Given the description of an element on the screen output the (x, y) to click on. 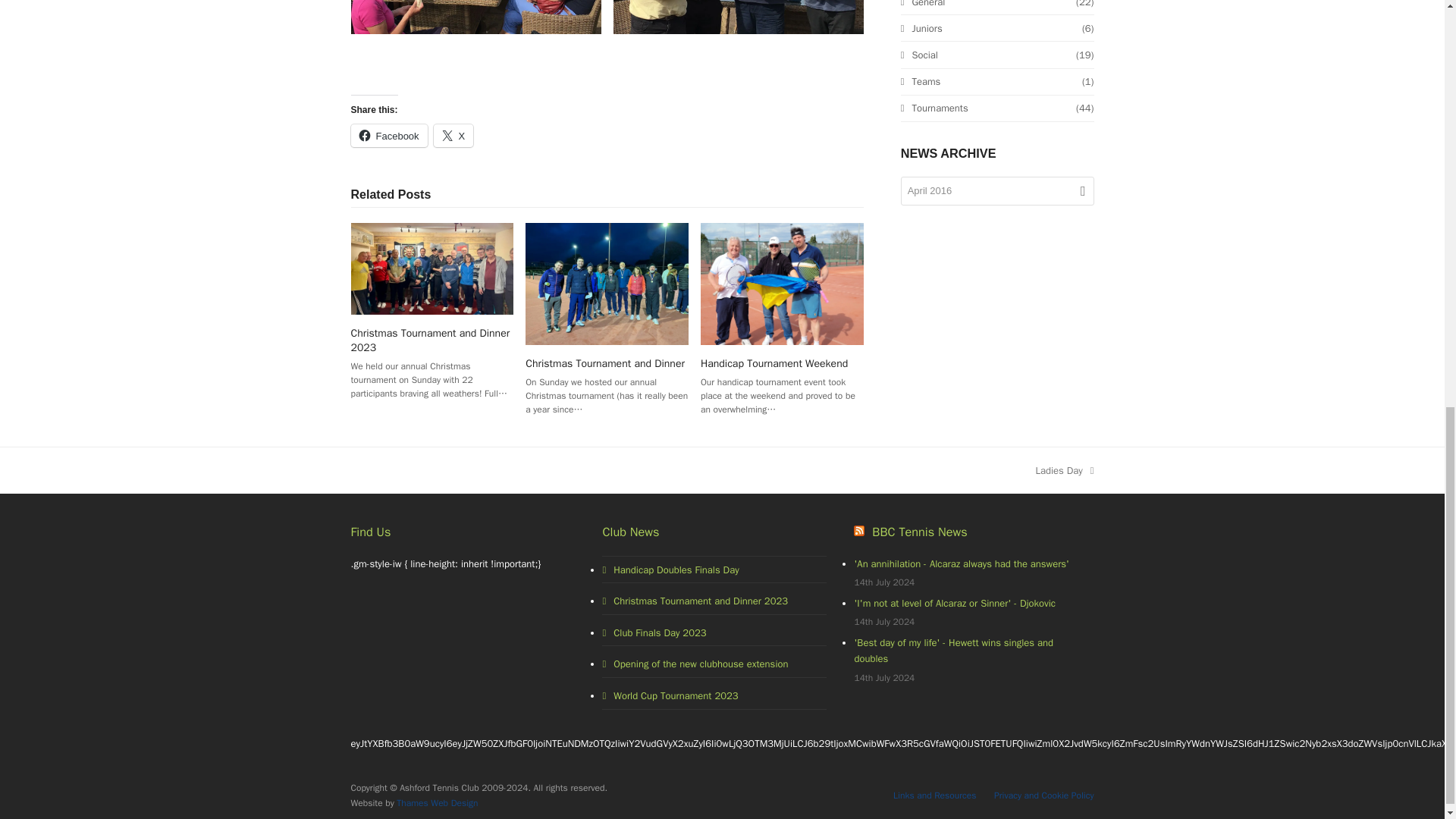
Click to share on X (453, 135)
Christmas Tournament and Dinner 2023 (431, 267)
Handicap Tournament Weekend (781, 282)
Click to share on Facebook (388, 135)
Christmas Tournament and Dinner (606, 282)
web design in Newcastle (436, 802)
